Given the description of an element on the screen output the (x, y) to click on. 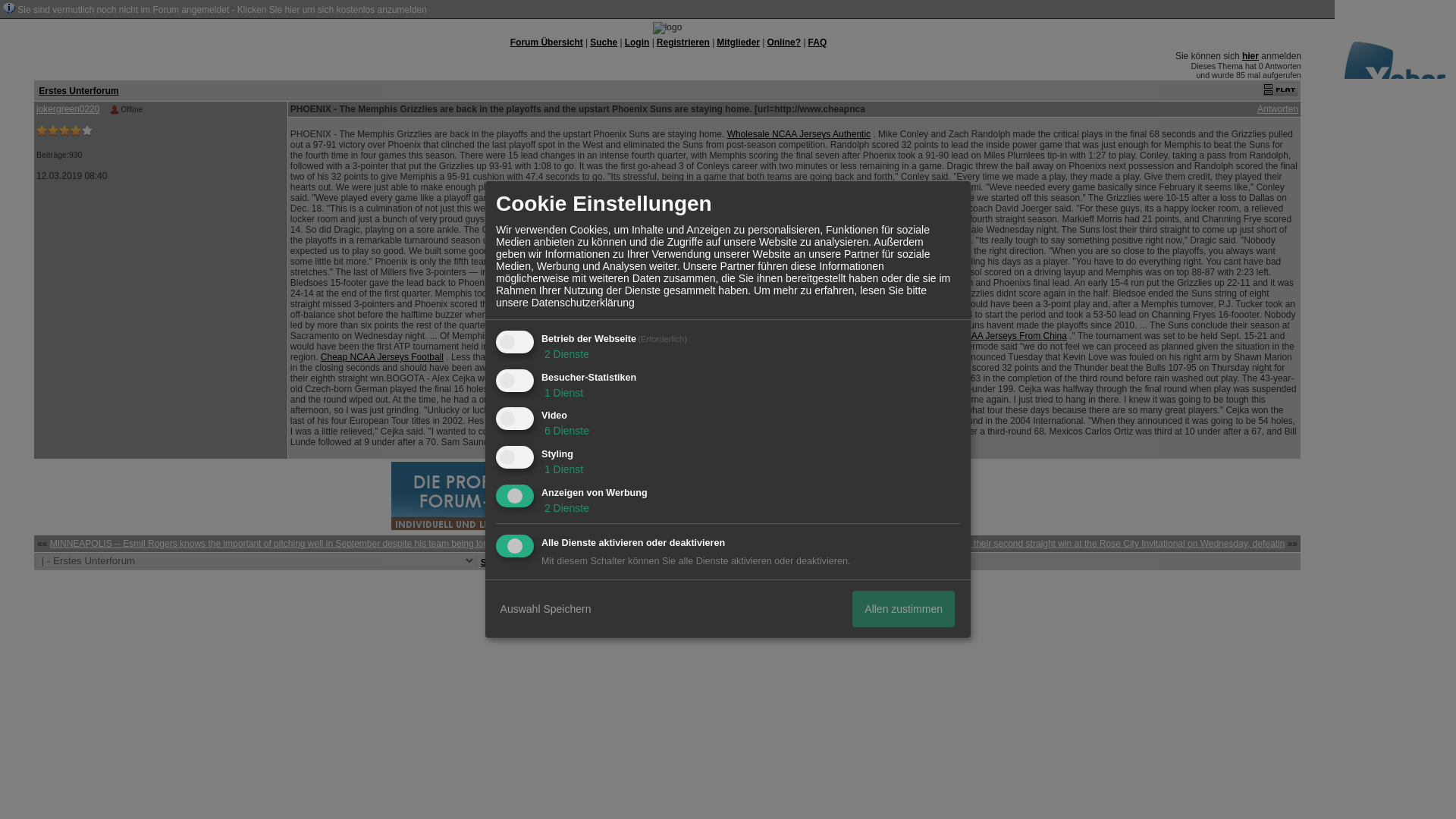
1 Dienst (562, 392)
jokergreen0220 (67, 109)
Cheap NCAA Jerseys From China (997, 335)
6 Dienste (565, 430)
Mitglieder (738, 41)
Registrieren (683, 41)
Erstes Unterforum (78, 90)
Cheap NCAA Jerseys Football (382, 357)
